Given the description of an element on the screen output the (x, y) to click on. 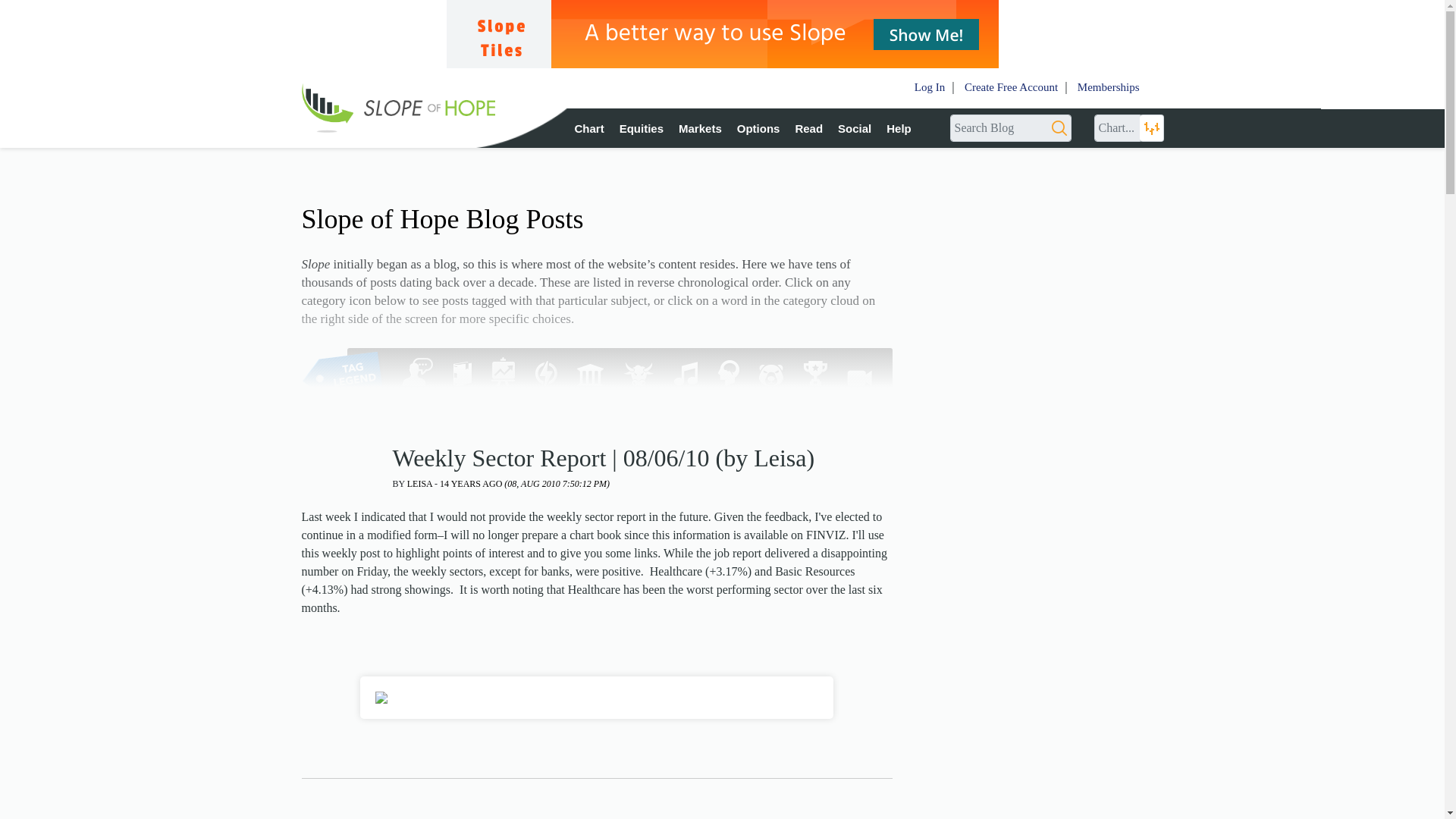
View all posts by Leisa (419, 482)
14 years ago (524, 482)
Chart (589, 128)
